Given the description of an element on the screen output the (x, y) to click on. 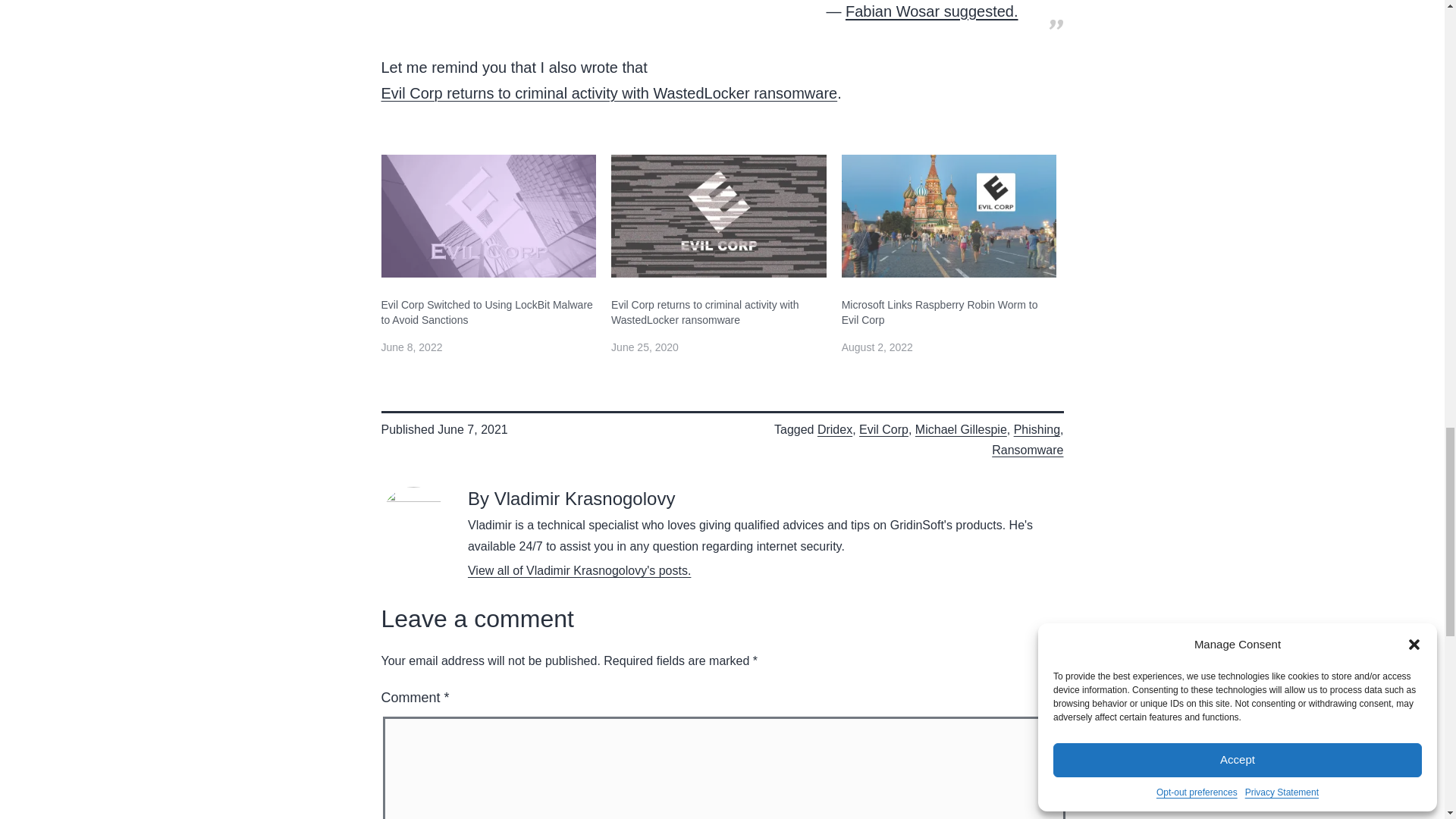
Microsoft Links Raspberry Robin Worm to Evil Corp (949, 312)
Dridex (833, 429)
Evil Corp (883, 429)
Fabian Wosar suggested. (931, 12)
Microsoft Links Raspberry Robin Worm to Evil Corp (949, 312)
Microsoft Links Raspberry Robin Worm to Evil Corp (949, 215)
